Given the description of an element on the screen output the (x, y) to click on. 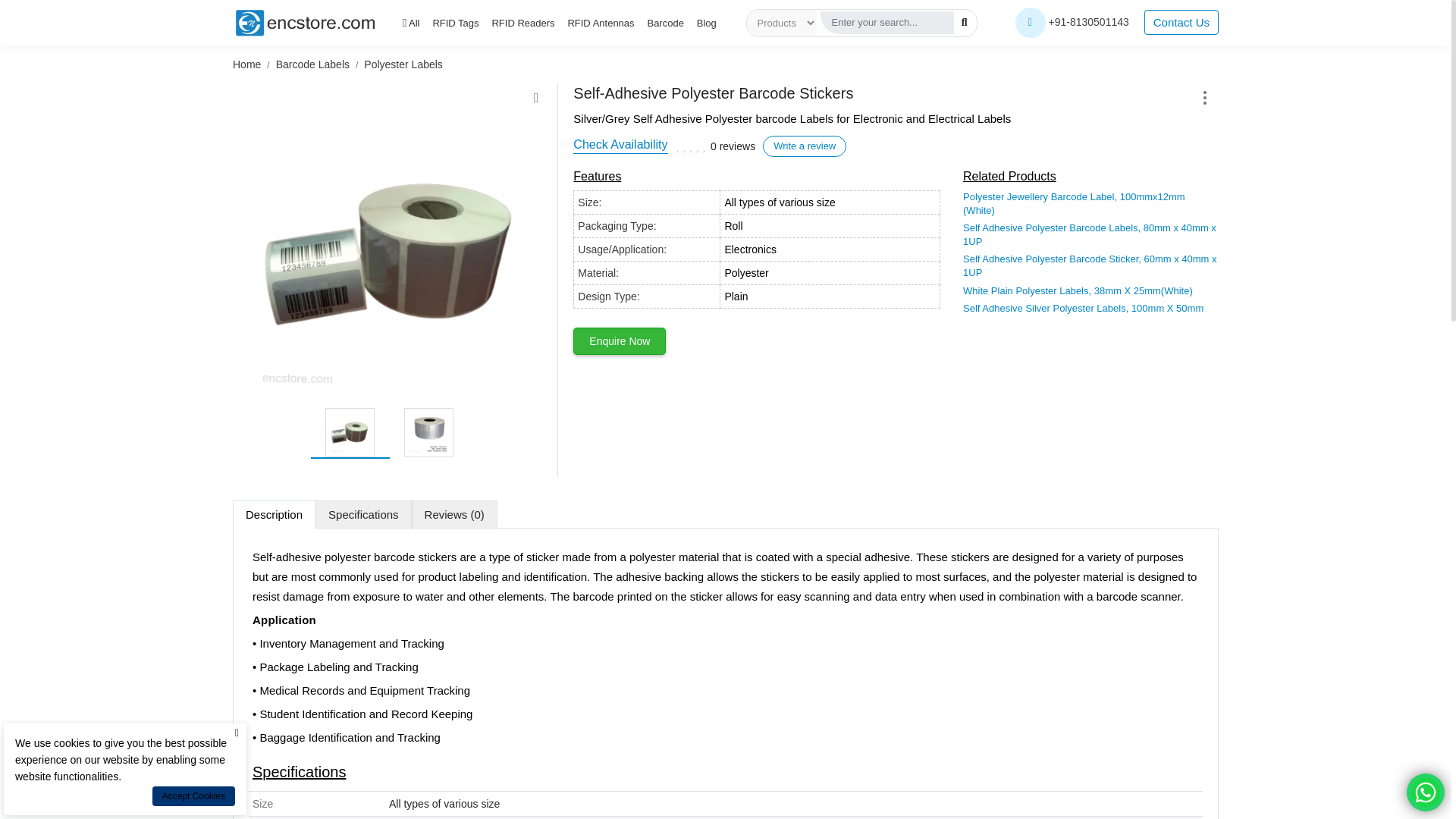
Self Adhesive Silver Polyester Labels, 100mm X 50mm (1083, 307)
Polyester Labels (403, 64)
Polyester Labels (389, 254)
RFID Tags (455, 23)
EnCstore.com Private Limited (305, 22)
Barcode (664, 23)
Polyester Labels (349, 432)
RFID Antennas (600, 23)
Contact Us (1181, 22)
Self Adhesive Polyester Barcode Sticker, 60mm x 40mm x 1UP (1089, 265)
RFID Readers (523, 23)
Barcode Labels (312, 64)
Home (246, 64)
Polyester Labels (428, 432)
0 reviews (732, 146)
